Given the description of an element on the screen output the (x, y) to click on. 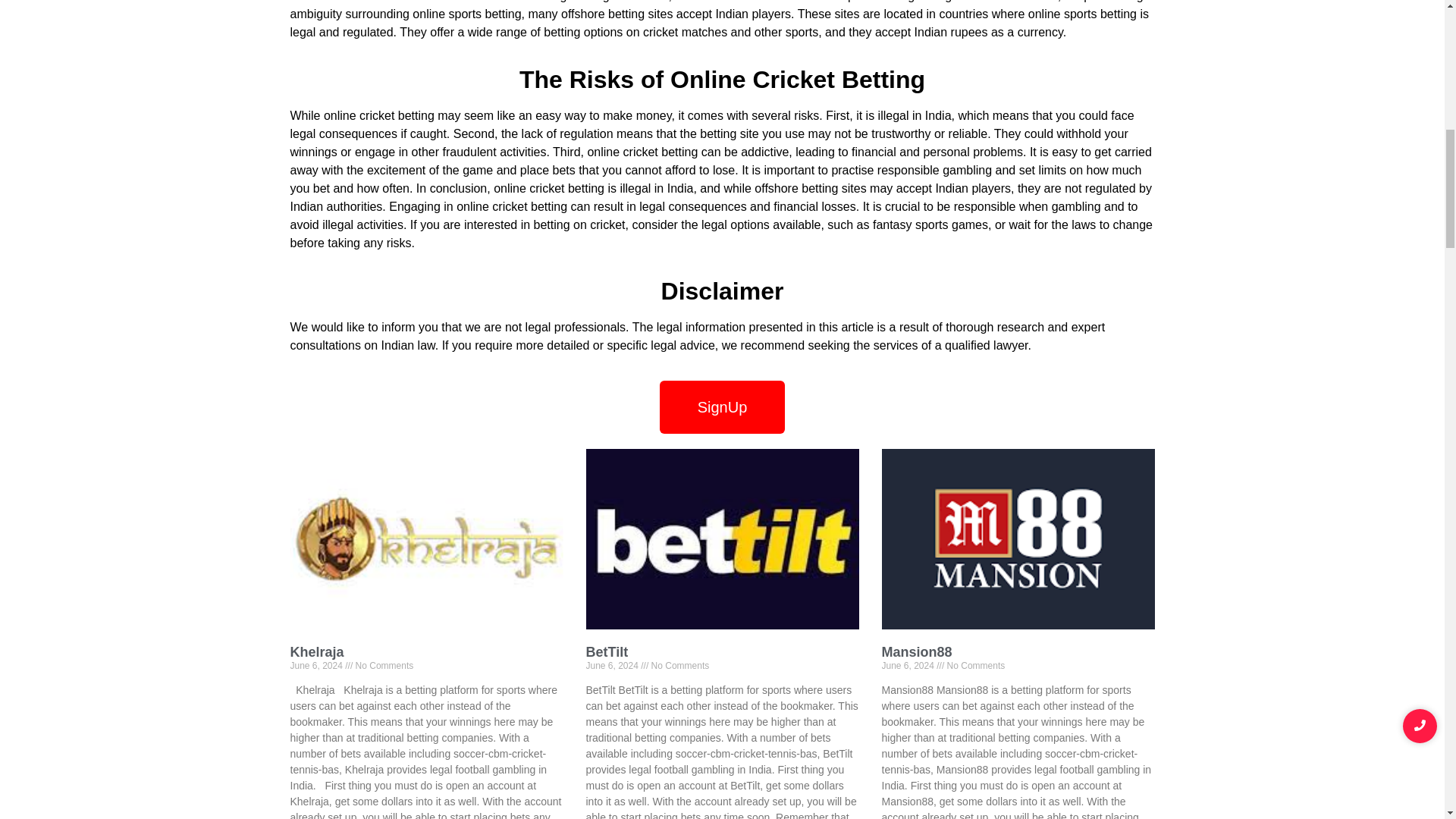
Khelraja (316, 652)
SignUp (722, 407)
BetTilt (606, 652)
Mansion88 (916, 652)
